Given the description of an element on the screen output the (x, y) to click on. 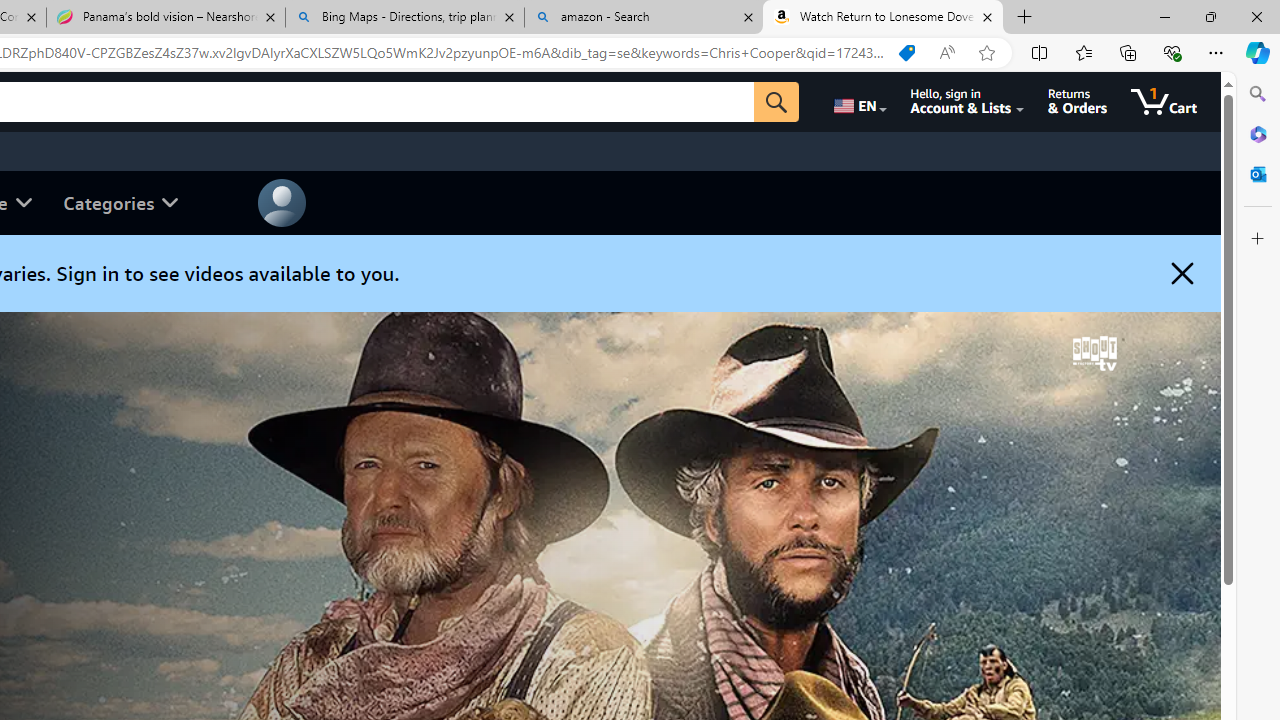
Shopping in Microsoft Edge (906, 53)
Categories (120, 202)
Class: bBPMYR CesUY3 GoanCL f11d1lkh (281, 202)
Channel logo (1094, 353)
Dismiss button (1181, 273)
Choose a language for shopping. (858, 101)
amazon - Search (643, 17)
